Given the description of an element on the screen output the (x, y) to click on. 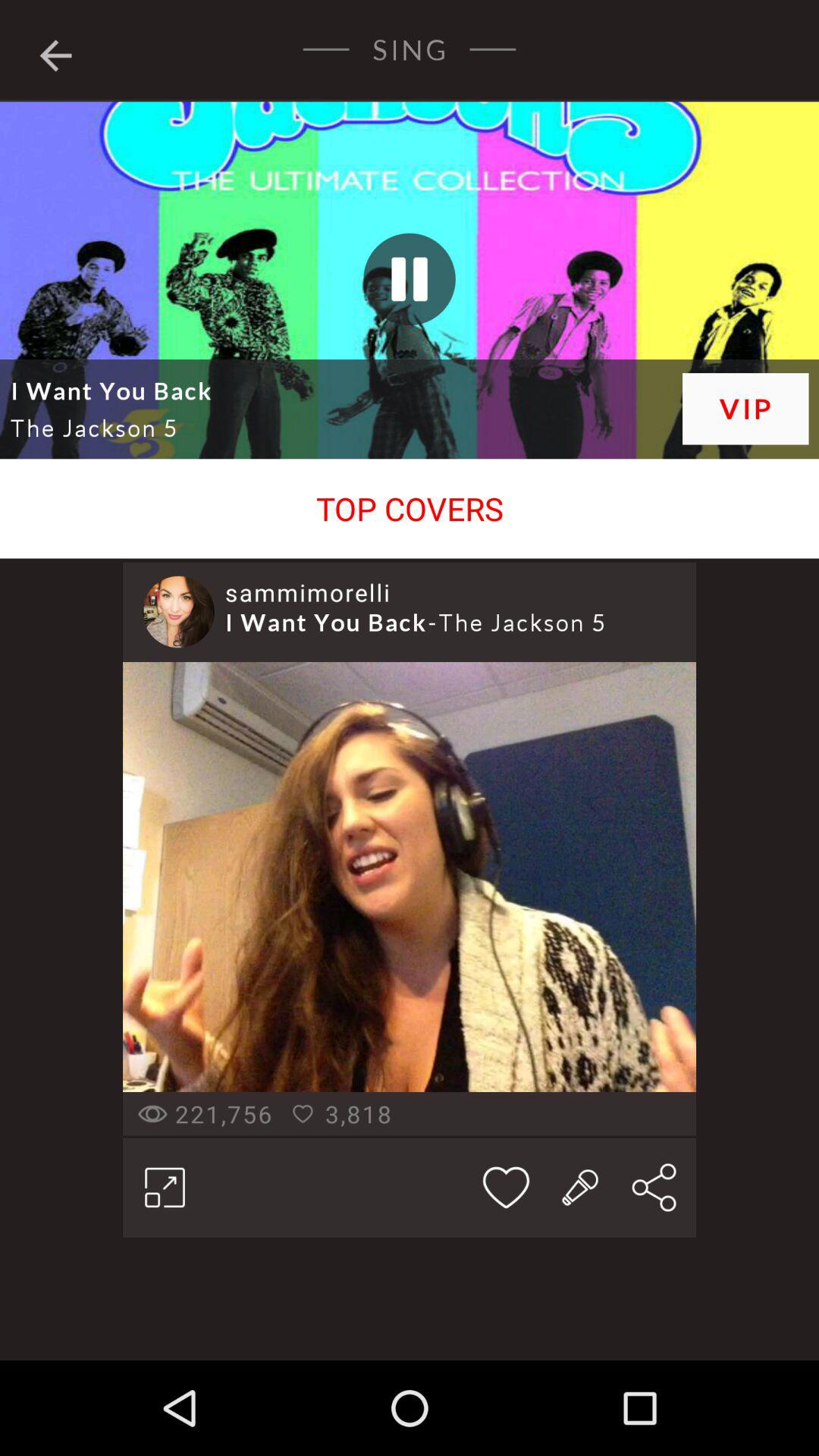
open the icon above top covers icon (745, 408)
